Given the description of an element on the screen output the (x, y) to click on. 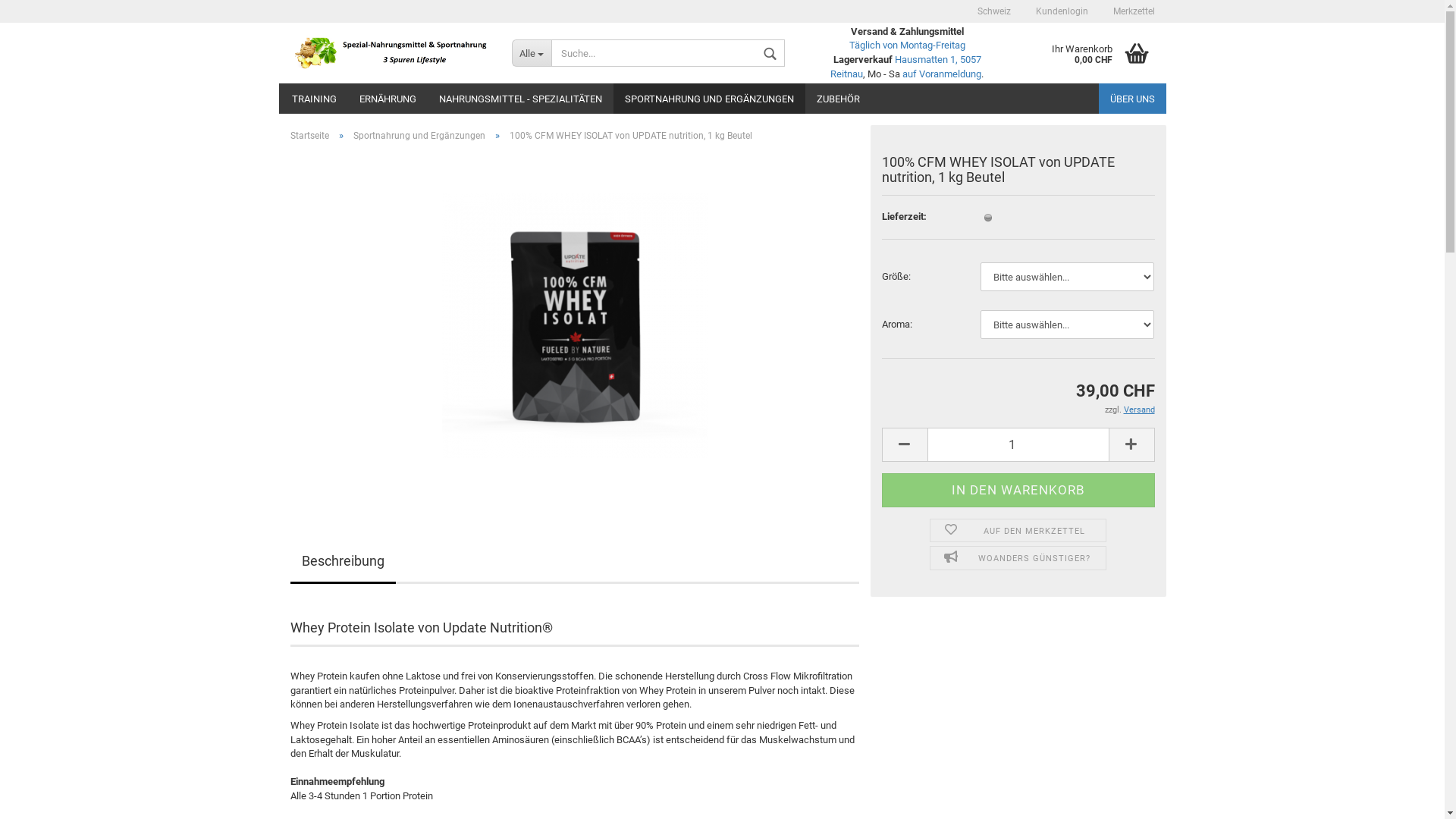
AUF DEN MERKZETTEL Element type: text (1018, 530)
Ihr Warenkorb
0,00 CHF Element type: text (1091, 52)
Schweiz Element type: text (994, 11)
Startseite Element type: text (308, 135)
Beschreibung Element type: text (342, 562)
100% CFM WHEY ISOLAT von UPDATE nutrition, 1 kg Beutel Element type: hover (573, 325)
Anmelden Element type: text (977, 185)
 Merkzettel Element type: text (1132, 11)
In den Warenkorb Element type: text (1017, 490)
Alle Element type: text (531, 52)
Hausmatten 1, 5057 Reitnau Element type: text (905, 66)
100% CFM WHEY ISOLAT von UPDATE nutrition, 1 kg Beutel Element type: hover (573, 323)
auf Voranmeldung Element type: text (941, 73)
Speichern Element type: text (910, 123)
In den Warenkorb Element type: hover (1017, 490)
 Kundenlogin Element type: text (1060, 11)
Versand Element type: text (1138, 409)
TRAINING Element type: text (314, 98)
3 Spuren Lifestyle Element type: hover (389, 52)
